Given the description of an element on the screen output the (x, y) to click on. 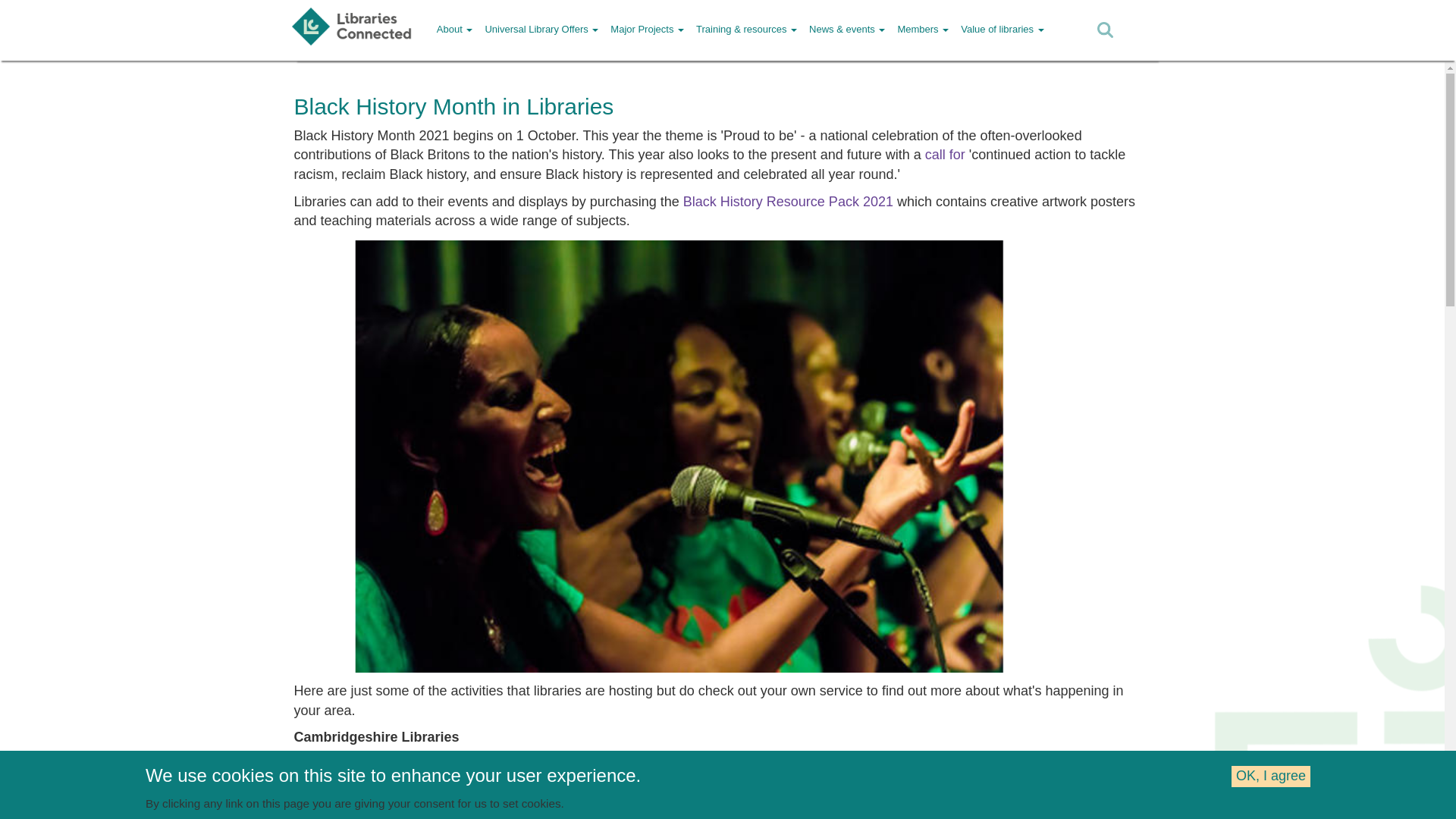
Home (356, 26)
About (454, 29)
Universal Library Offers (541, 29)
